Given the description of an element on the screen output the (x, y) to click on. 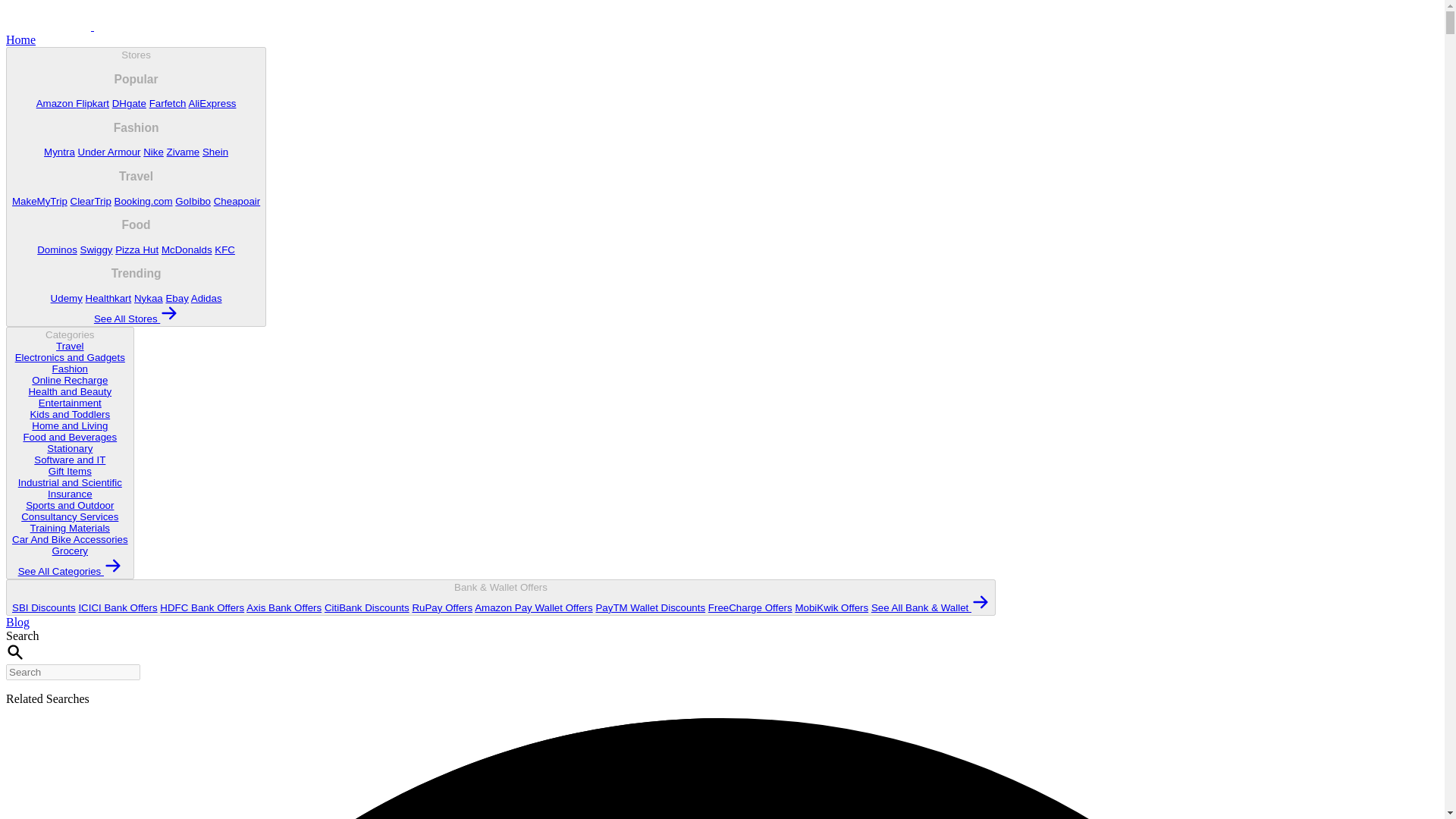
Kids and Toddlers (69, 414)
Nike (152, 152)
Dominos (57, 249)
Nykaa (148, 297)
Myntra (59, 152)
See All Stores (135, 318)
Flipkart (92, 102)
Home (19, 39)
Amazon (56, 102)
Online Recharge (69, 379)
GoIbibo (192, 201)
DHgate (129, 102)
Adidas (206, 297)
McDonalds (186, 249)
Udemy (66, 297)
